Given the description of an element on the screen output the (x, y) to click on. 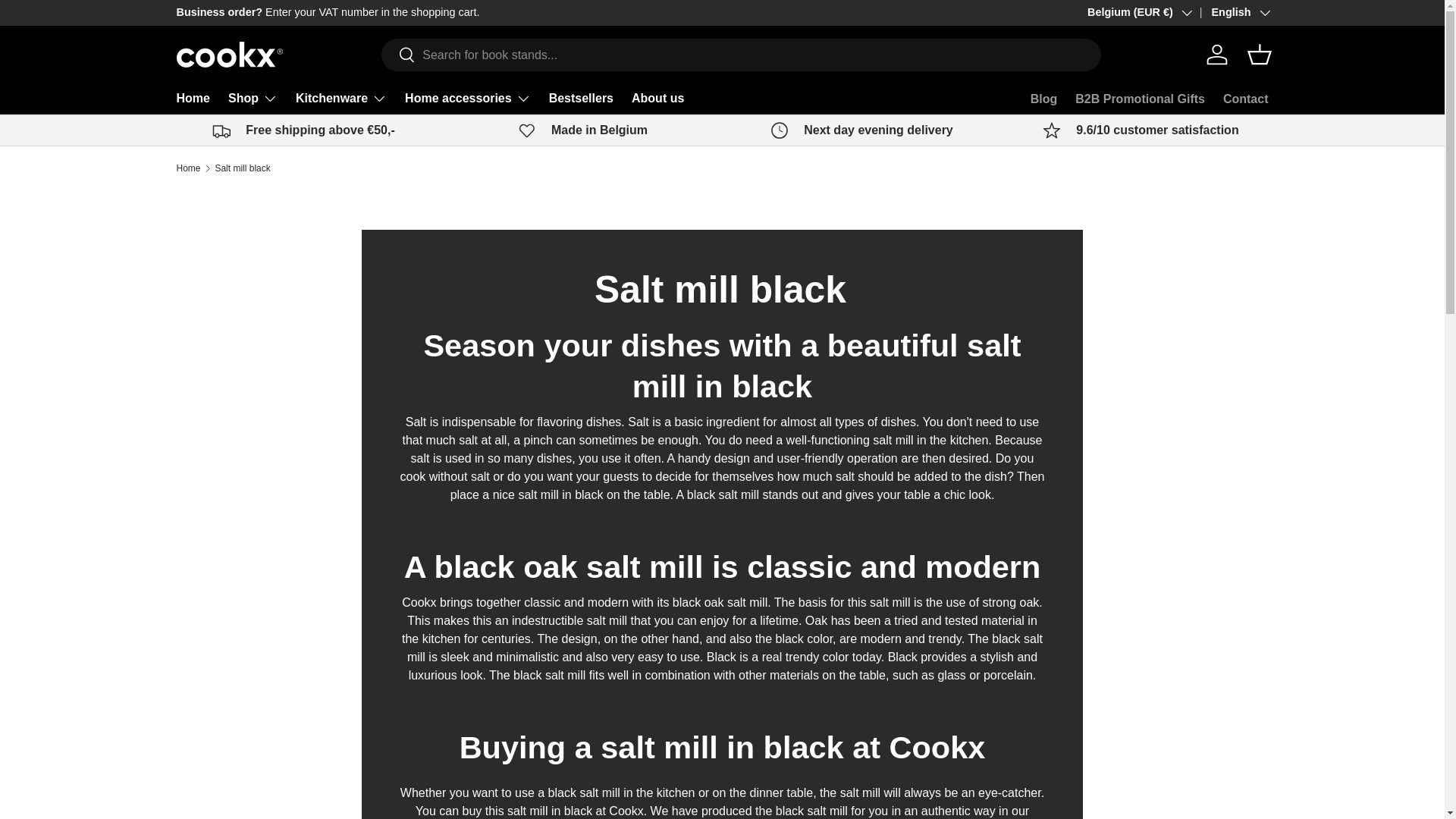
Home (192, 98)
Shop (253, 98)
Search (397, 55)
Skip to content (69, 21)
Log in (1216, 54)
Basket (1258, 54)
English (1229, 12)
Kitchenware (341, 98)
